Given the description of an element on the screen output the (x, y) to click on. 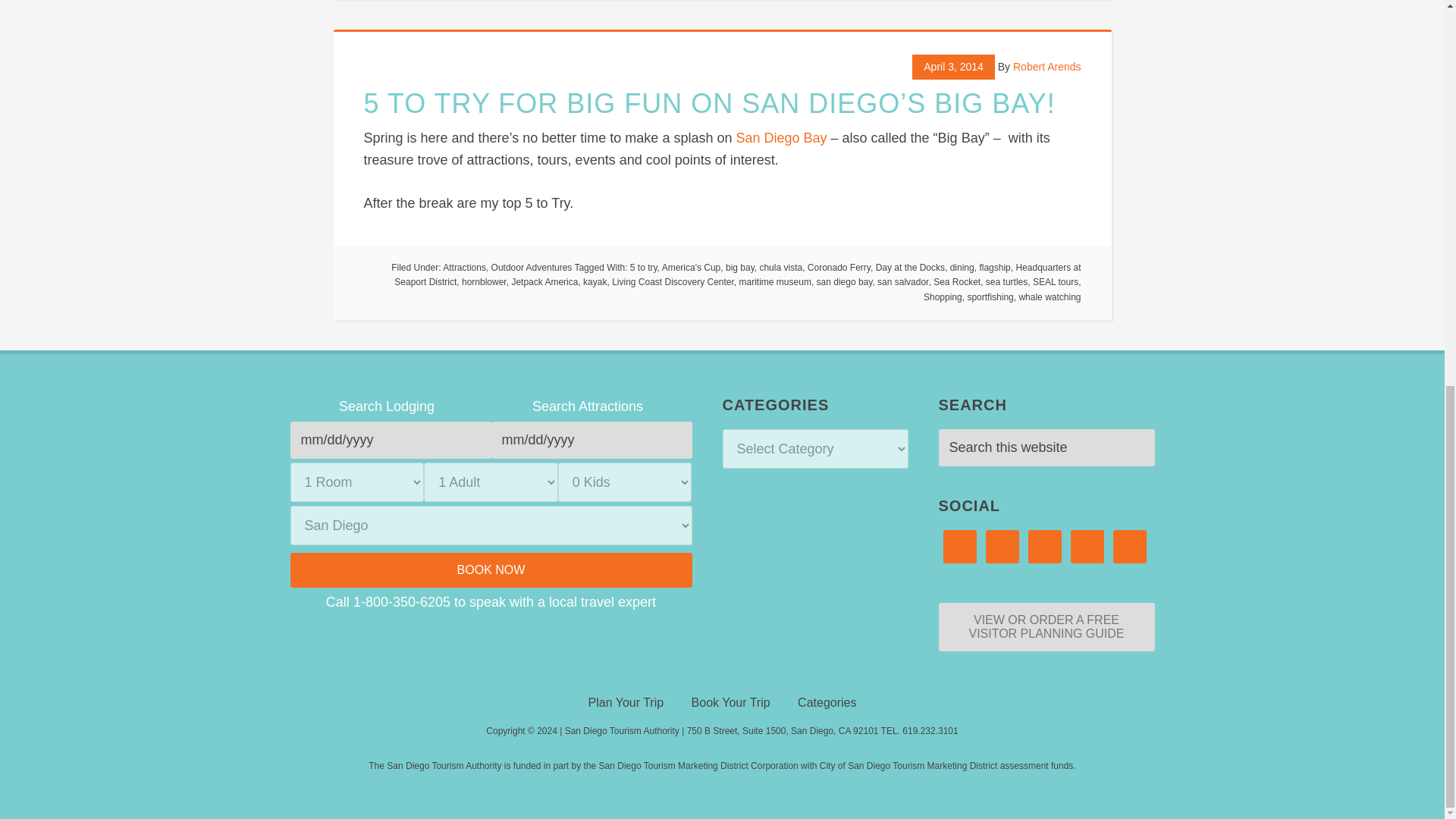
The Big Bay (781, 137)
